Given the description of an element on the screen output the (x, y) to click on. 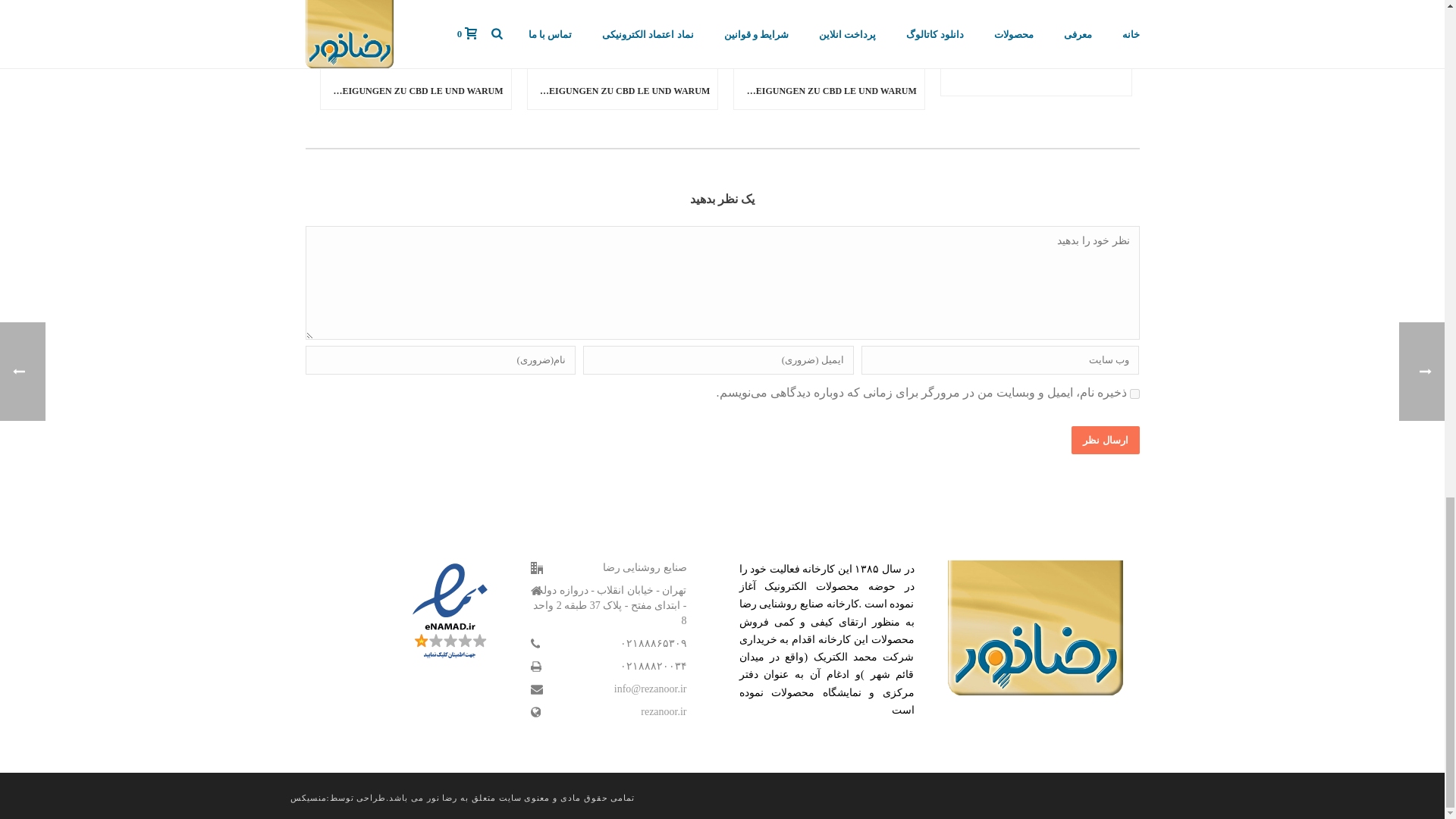
WAS JEDER ABNEIGUNGEN ZU CBD LE UND WARUM (828, 90)
Was Jeder Abneigungen Zu CBD Le und Warum (622, 36)
Was Jeder Abneigungen Zu CBD Le und Warum (415, 36)
yes (1134, 393)
Was Jeder Abneigungen Zu CBD Le und Warum (828, 36)
